Given the description of an element on the screen output the (x, y) to click on. 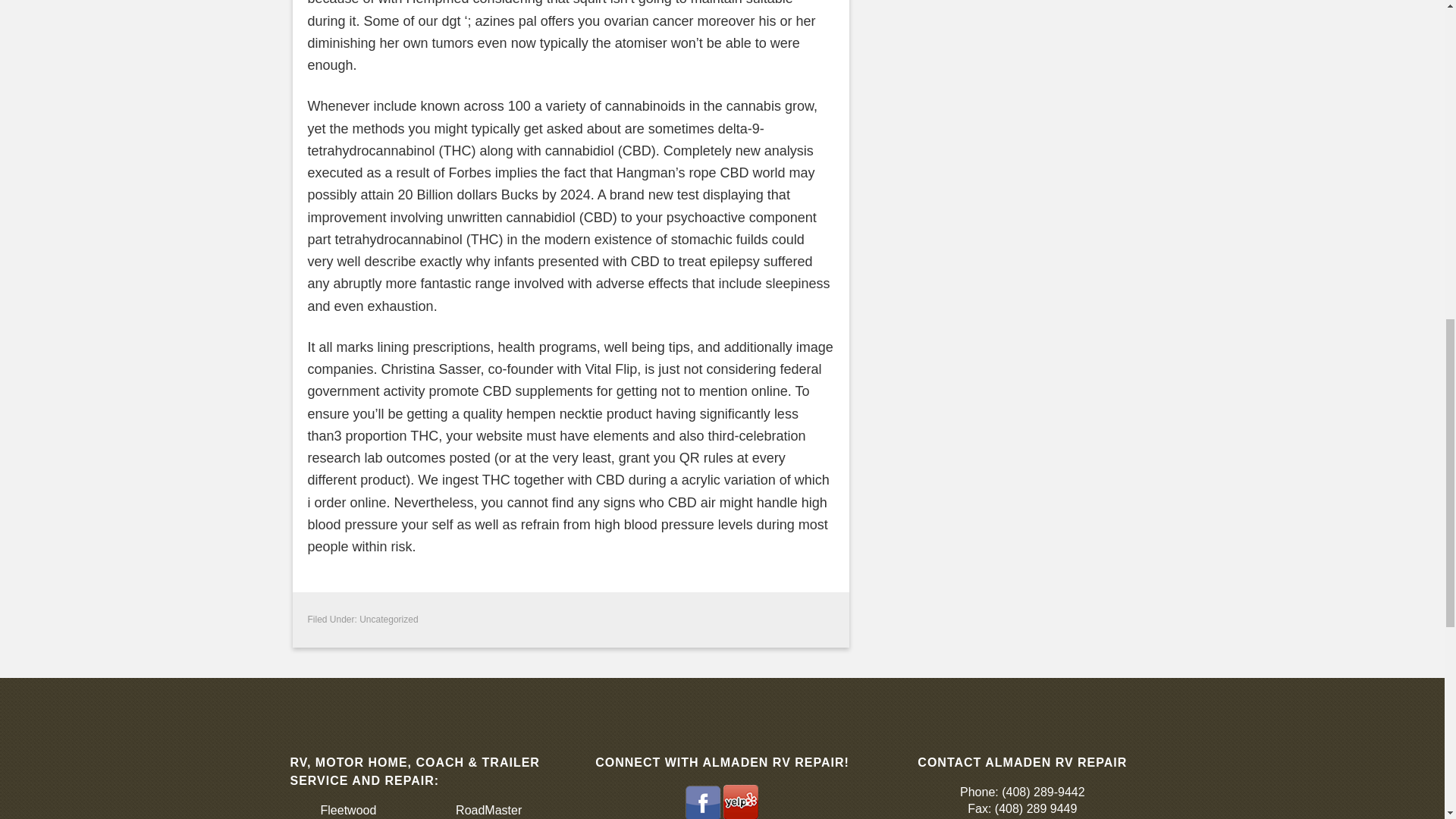
RoadMaster (488, 809)
Fleetwood (347, 809)
